Given the description of an element on the screen output the (x, y) to click on. 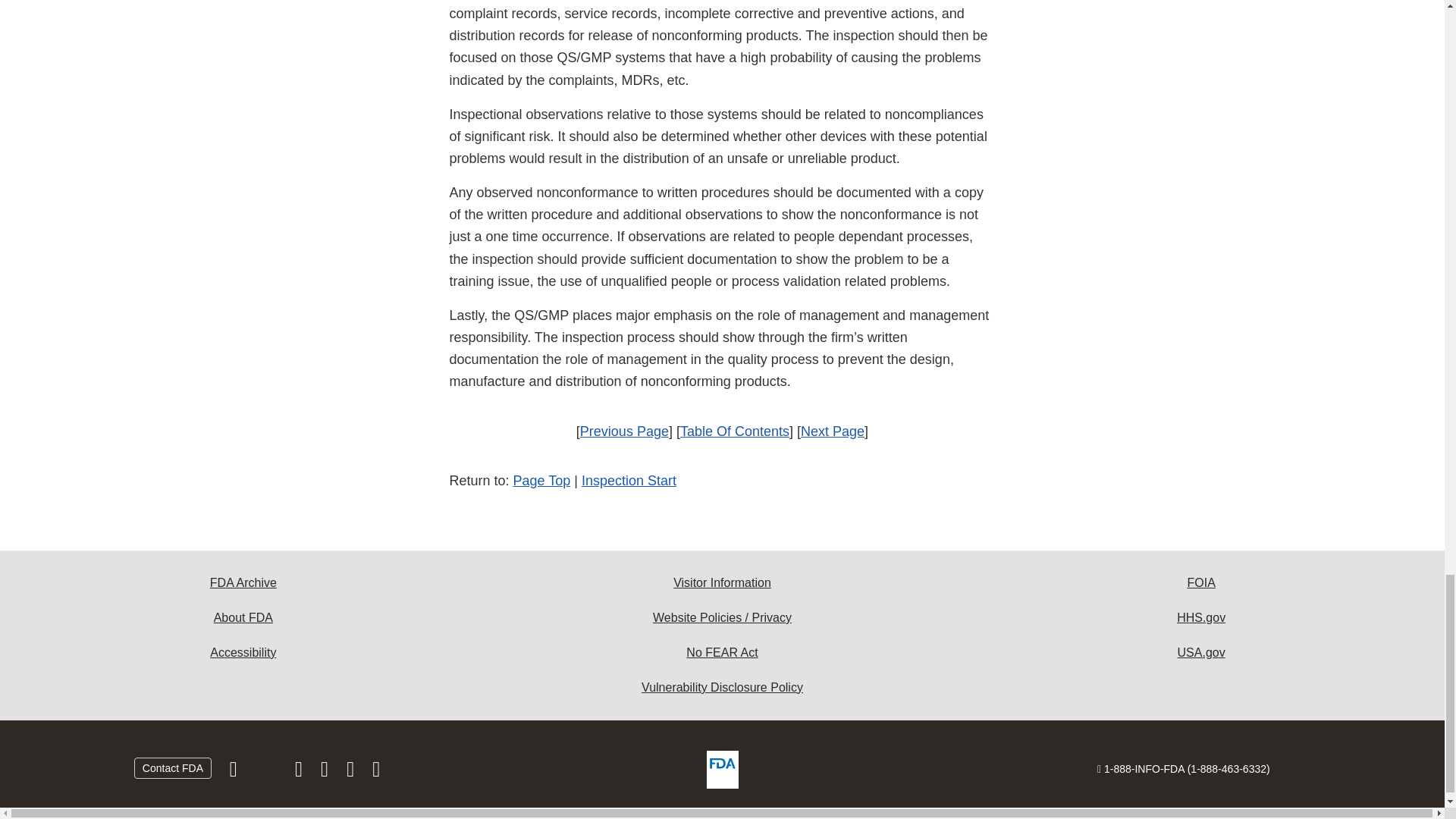
Subscribe to FDA RSS feeds (376, 772)
Follow FDA on LinkedIn (326, 772)
Follow FDA on Facebook (234, 772)
Freedom of Information Act (1200, 582)
Follow FDA on X (266, 772)
View FDA videos on YouTube (352, 772)
Follow FDA on Instagram (299, 772)
Health and Human Services (1200, 617)
